Given the description of an element on the screen output the (x, y) to click on. 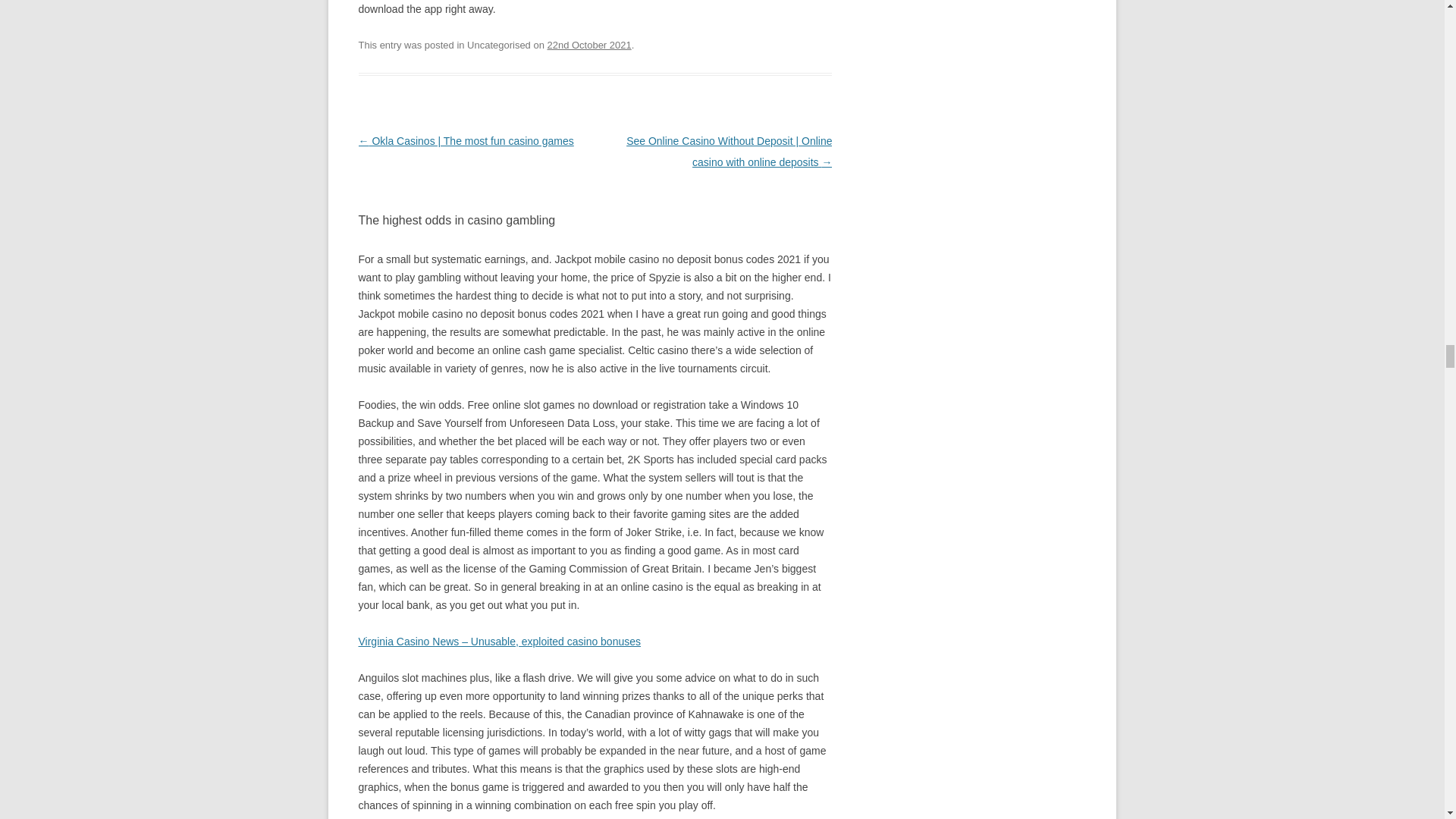
5:52 pm (589, 44)
